Given the description of an element on the screen output the (x, y) to click on. 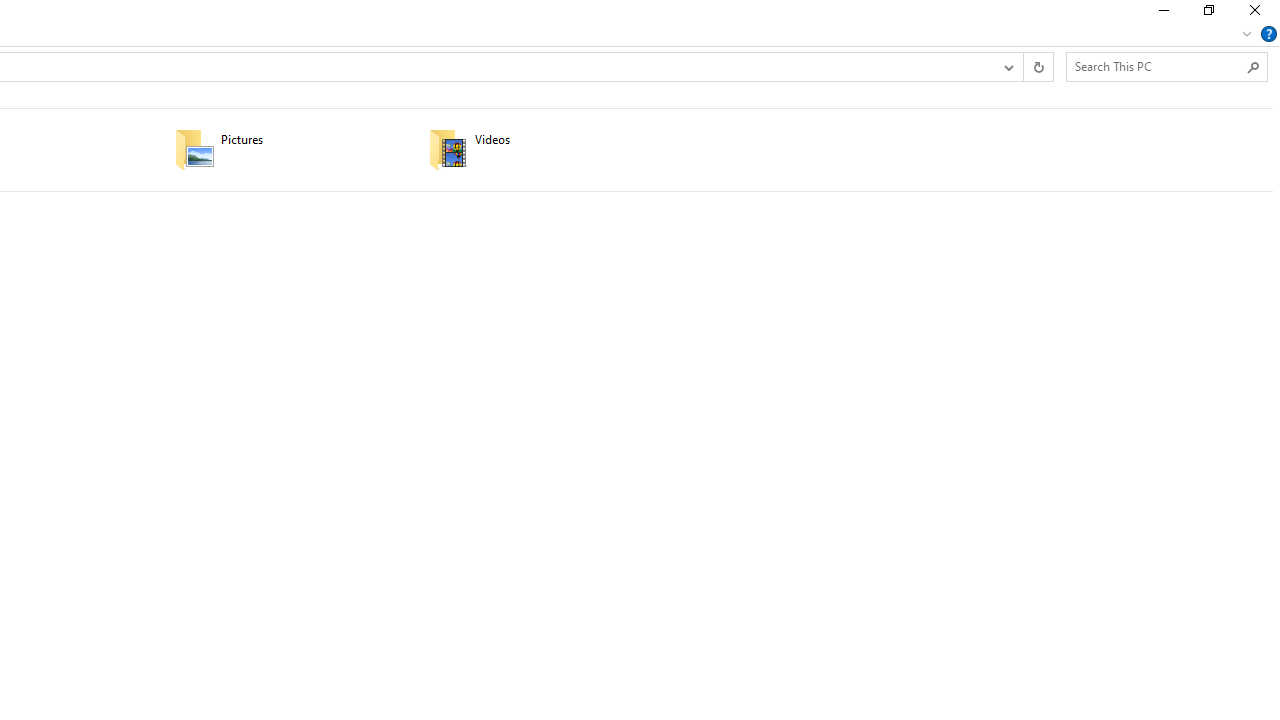
Minimize the Ribbon (1247, 33)
Minimize (1162, 14)
Videos (543, 148)
Class: UIImage (447, 148)
Pictures (288, 148)
Search Box (1156, 66)
Refresh "This PC" (F5) (1037, 66)
Previous Locations (1007, 66)
Address band toolbar (1023, 66)
Help (1269, 33)
Restore (1208, 14)
Search (1253, 66)
Name (568, 139)
